Given the description of an element on the screen output the (x, y) to click on. 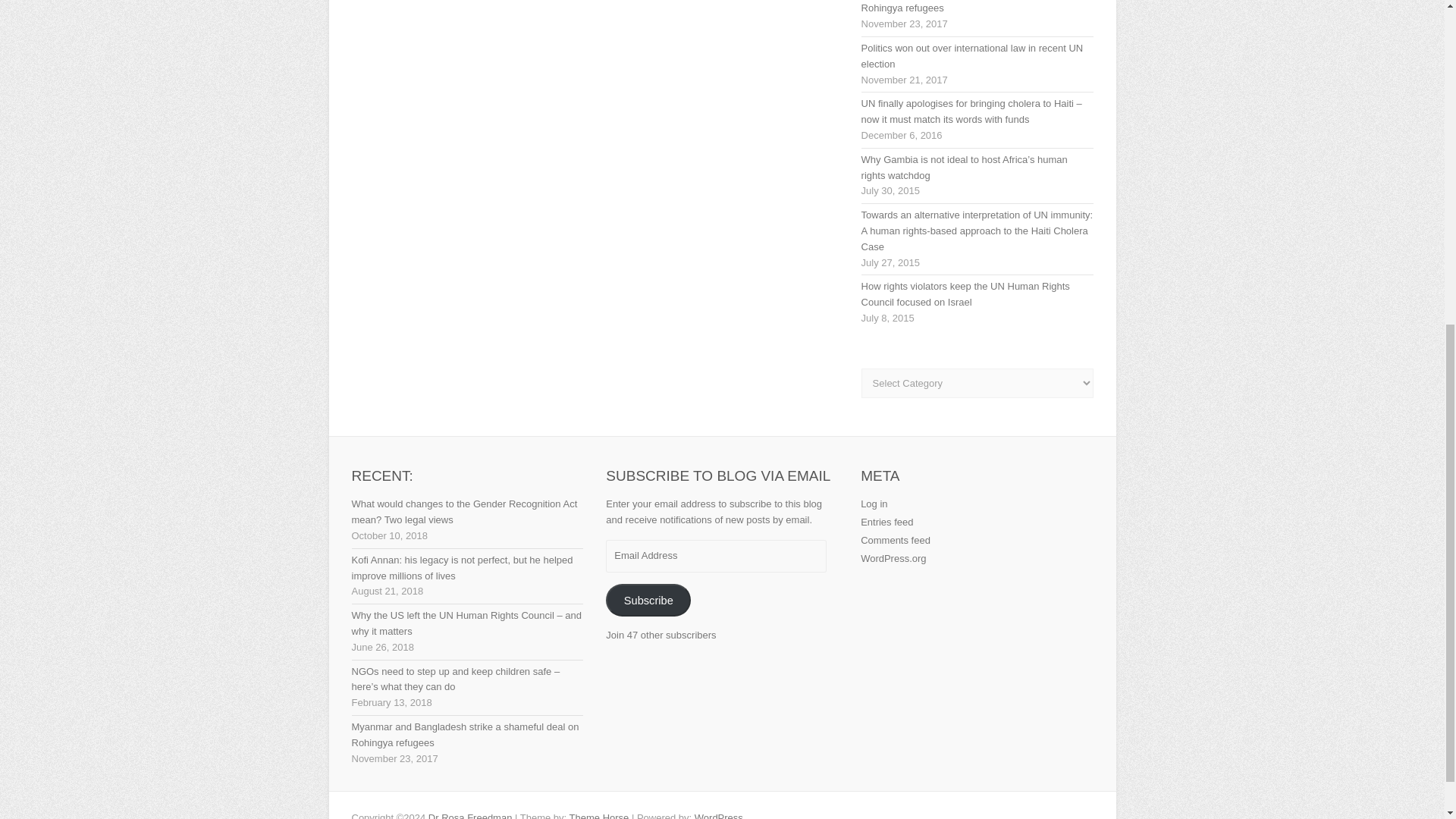
Entries feed (886, 521)
Log in (873, 503)
Subscribe (647, 600)
WordPress.org (893, 558)
